Given the description of an element on the screen output the (x, y) to click on. 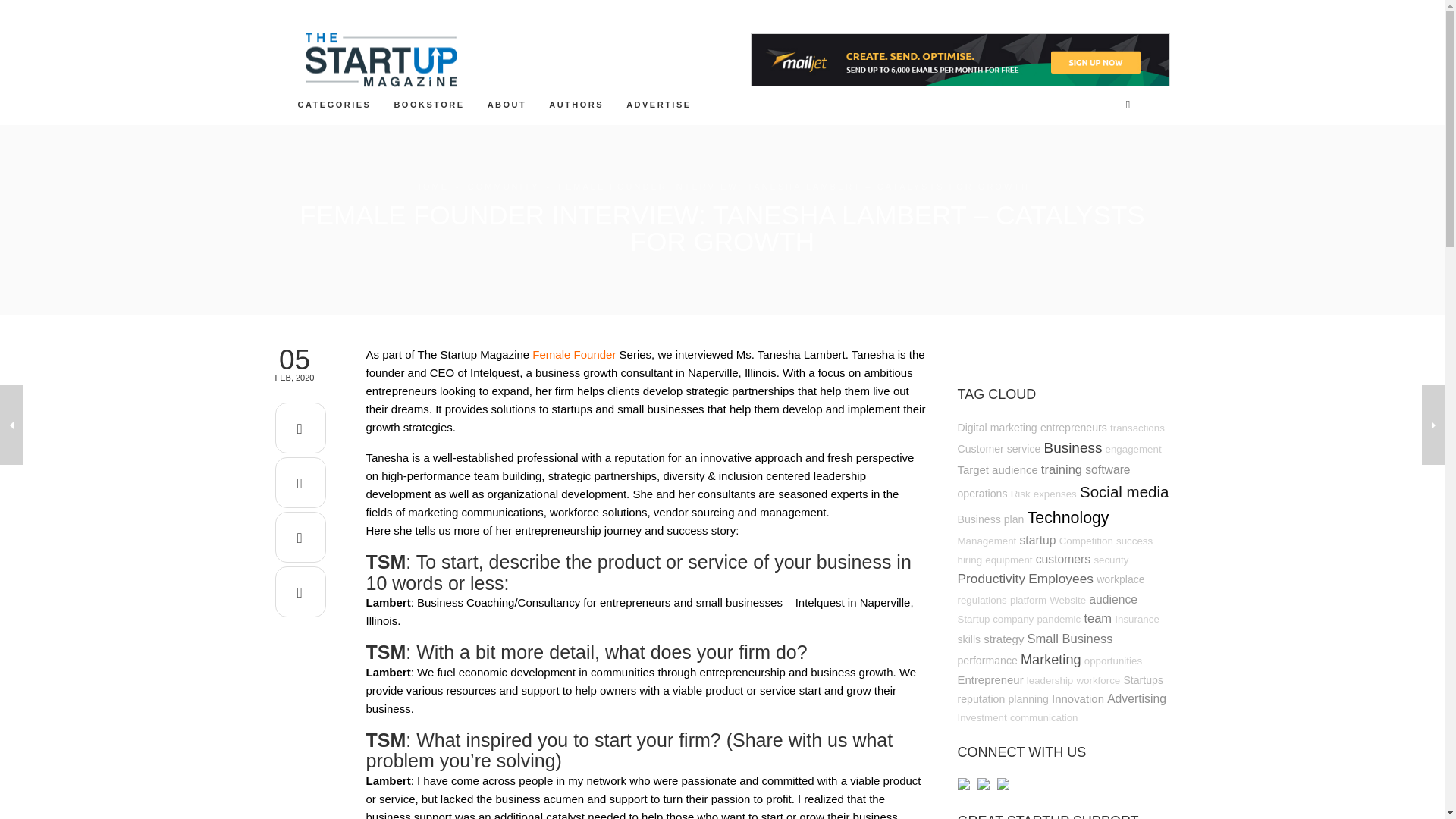
HOME (431, 185)
BOOKSTORE (428, 103)
199 topics (981, 493)
196 topics (998, 449)
152 topics (1136, 428)
164 topics (1133, 449)
Female Founder (573, 354)
CATEGORIES (334, 103)
ABOUT (507, 103)
235 topics (996, 427)
COMMUNITY (503, 185)
Categories (334, 103)
328 topics (1061, 469)
AUTHORS (575, 103)
263 topics (996, 469)
